Given the description of an element on the screen output the (x, y) to click on. 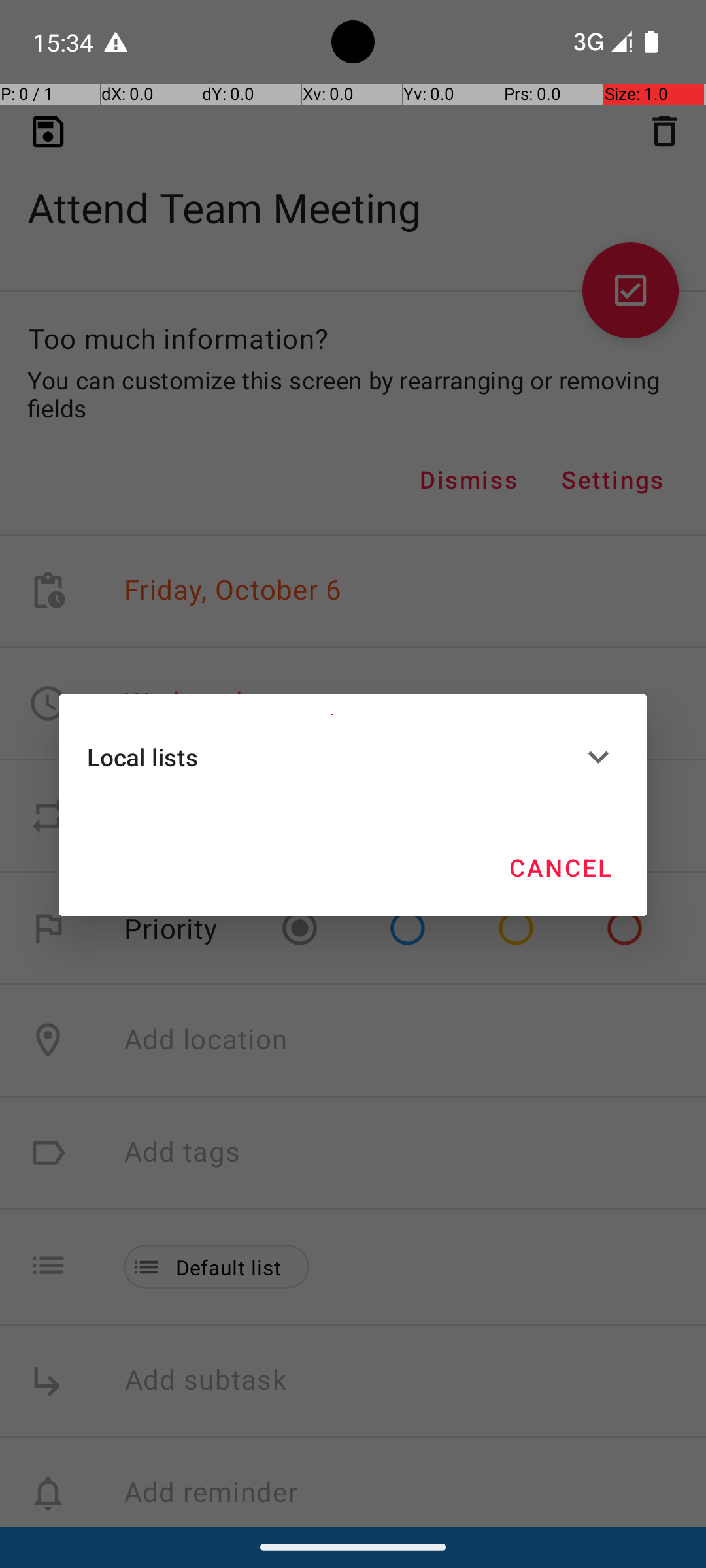
Local lists Element type: android.widget.TextView (331, 756)
